Given the description of an element on the screen output the (x, y) to click on. 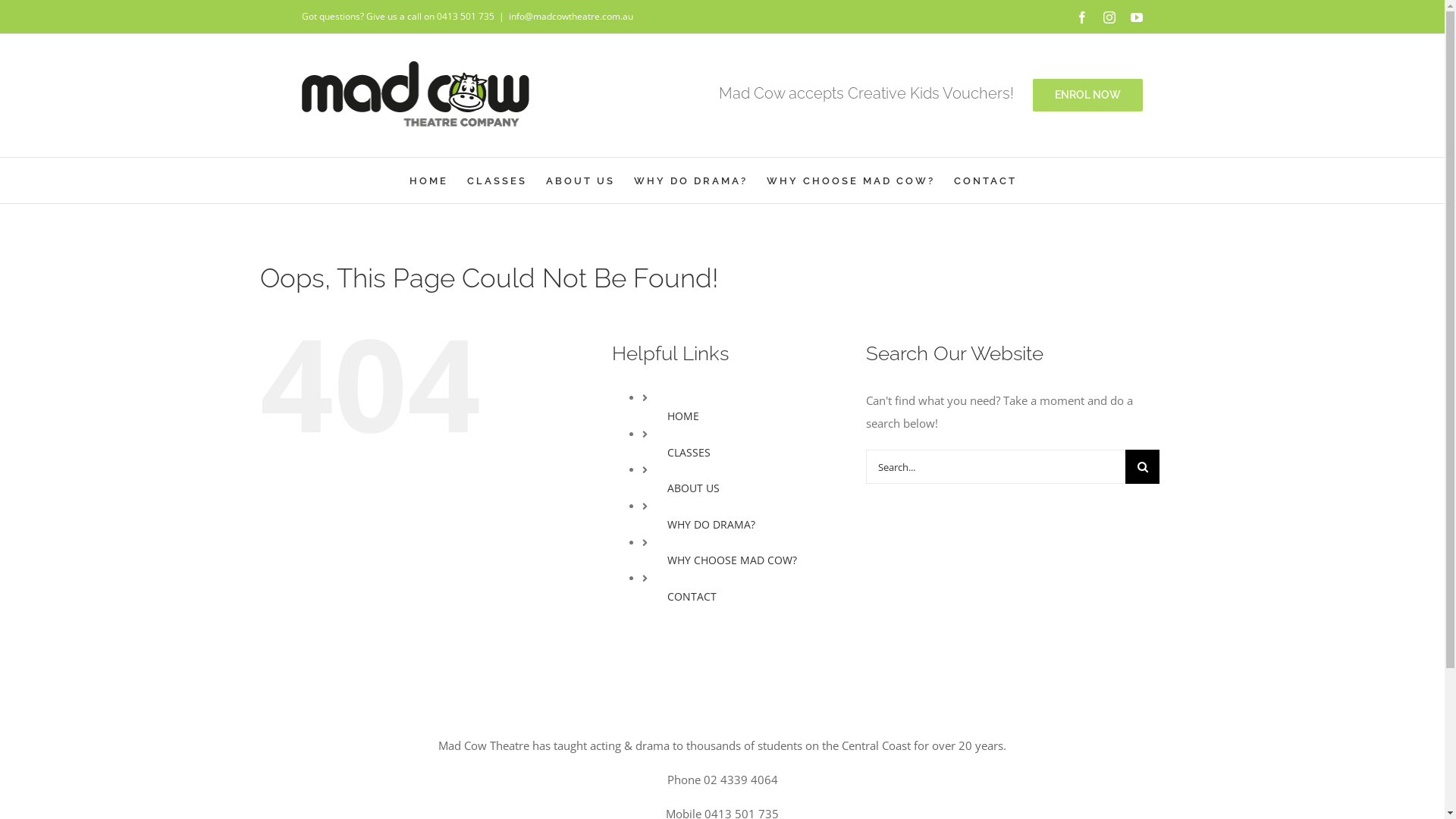
HOME Element type: text (428, 180)
WHY DO DRAMA? Element type: text (711, 524)
HOME Element type: text (683, 415)
Facebook Element type: text (1082, 17)
WHY CHOOSE MAD COW? Element type: text (849, 180)
info@madcowtheatre.com.au Element type: text (570, 15)
ENROL NOW Element type: text (1087, 94)
WHY CHOOSE MAD COW? Element type: text (732, 559)
ABOUT US Element type: text (580, 180)
CONTACT Element type: text (984, 180)
CONTACT Element type: text (691, 596)
WHY DO DRAMA? Element type: text (690, 180)
Instagram Element type: text (1109, 17)
ABOUT US Element type: text (693, 487)
CLASSES Element type: text (497, 180)
YouTube Element type: text (1136, 17)
CLASSES Element type: text (688, 452)
